Given the description of an element on the screen output the (x, y) to click on. 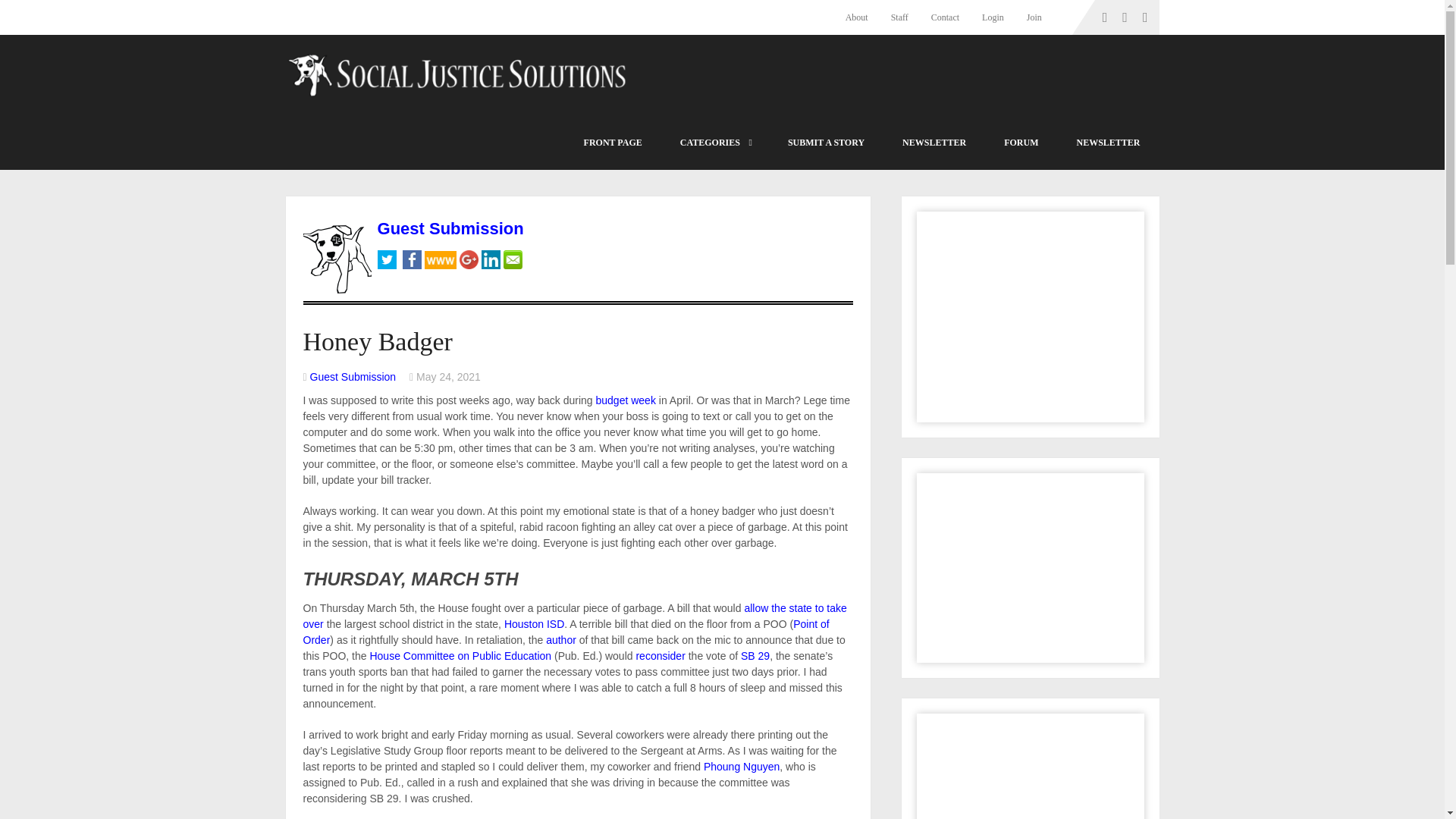
About Social Justice Solutions (862, 17)
House Committee on Public Education (460, 655)
Posts by Guest Submission (353, 377)
reconsider (659, 655)
SB 29 (755, 655)
Latest (612, 142)
CATEGORIES (714, 142)
NEWSLETTER (934, 142)
Join (1033, 17)
budget week (625, 399)
